Given the description of an element on the screen output the (x, y) to click on. 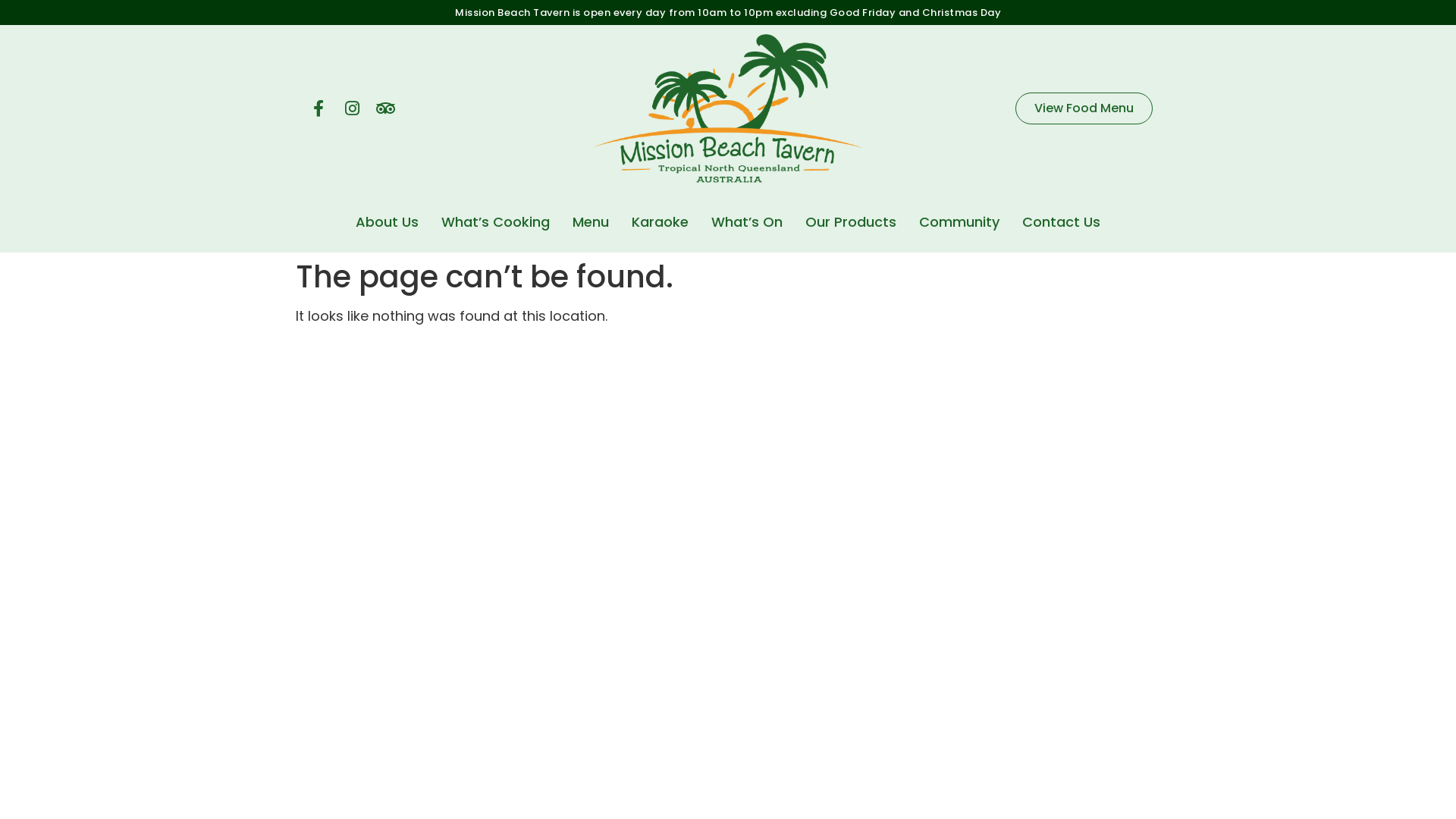
Menu Element type: text (590, 221)
Our Products Element type: text (850, 221)
View Food Menu Element type: text (1083, 108)
About Us Element type: text (386, 221)
Contact Us Element type: text (1061, 221)
Karaoke Element type: text (659, 221)
Community Element type: text (959, 221)
